Given the description of an element on the screen output the (x, y) to click on. 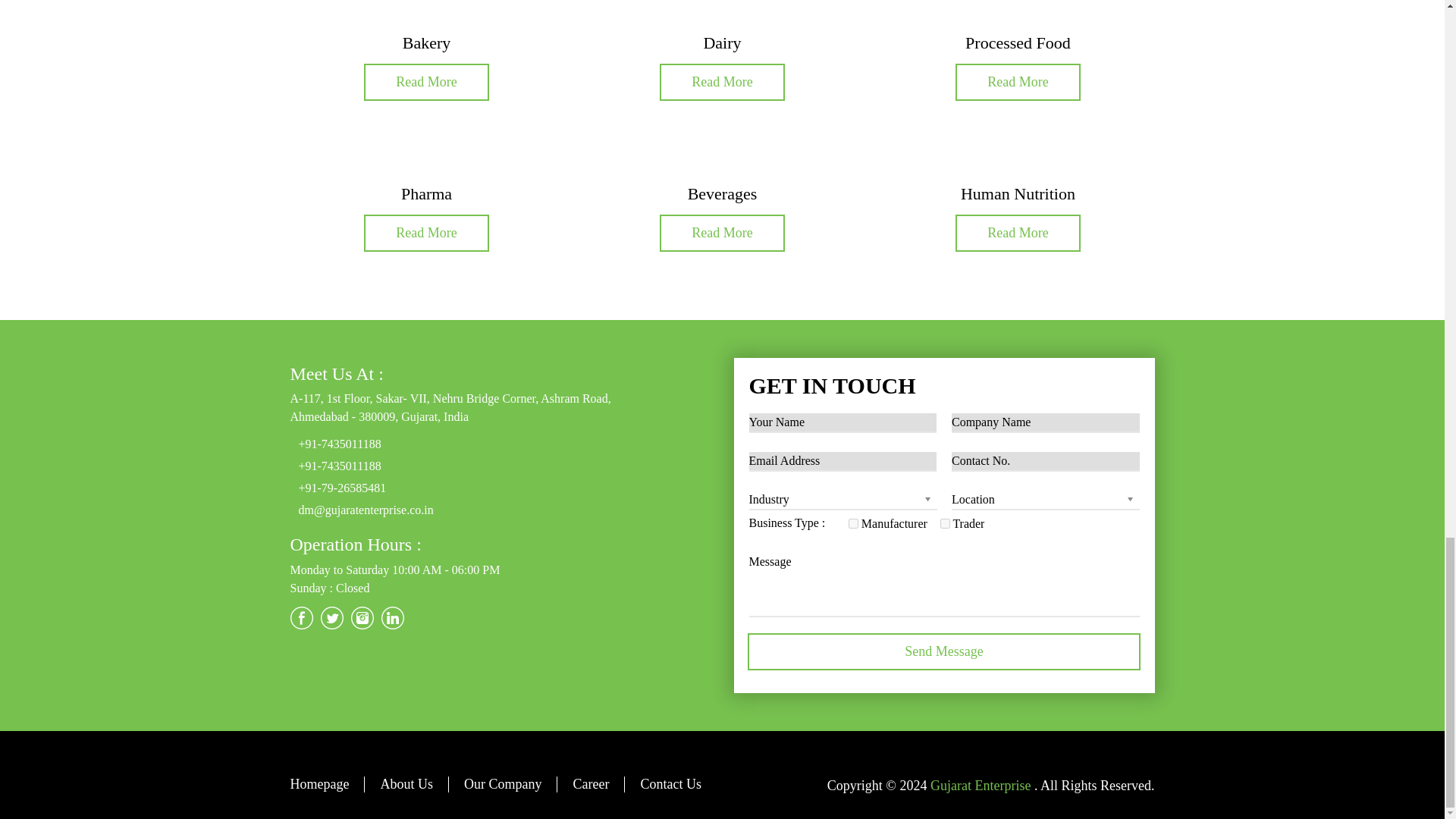
Pharma (426, 193)
Read More (1017, 81)
Dairy (722, 42)
Read More (425, 81)
Read More (721, 81)
Trader (945, 523)
Bakery (427, 42)
Read More (425, 232)
Manufacturer (853, 523)
Processed Food (1017, 42)
Send Message (944, 651)
